Given the description of an element on the screen output the (x, y) to click on. 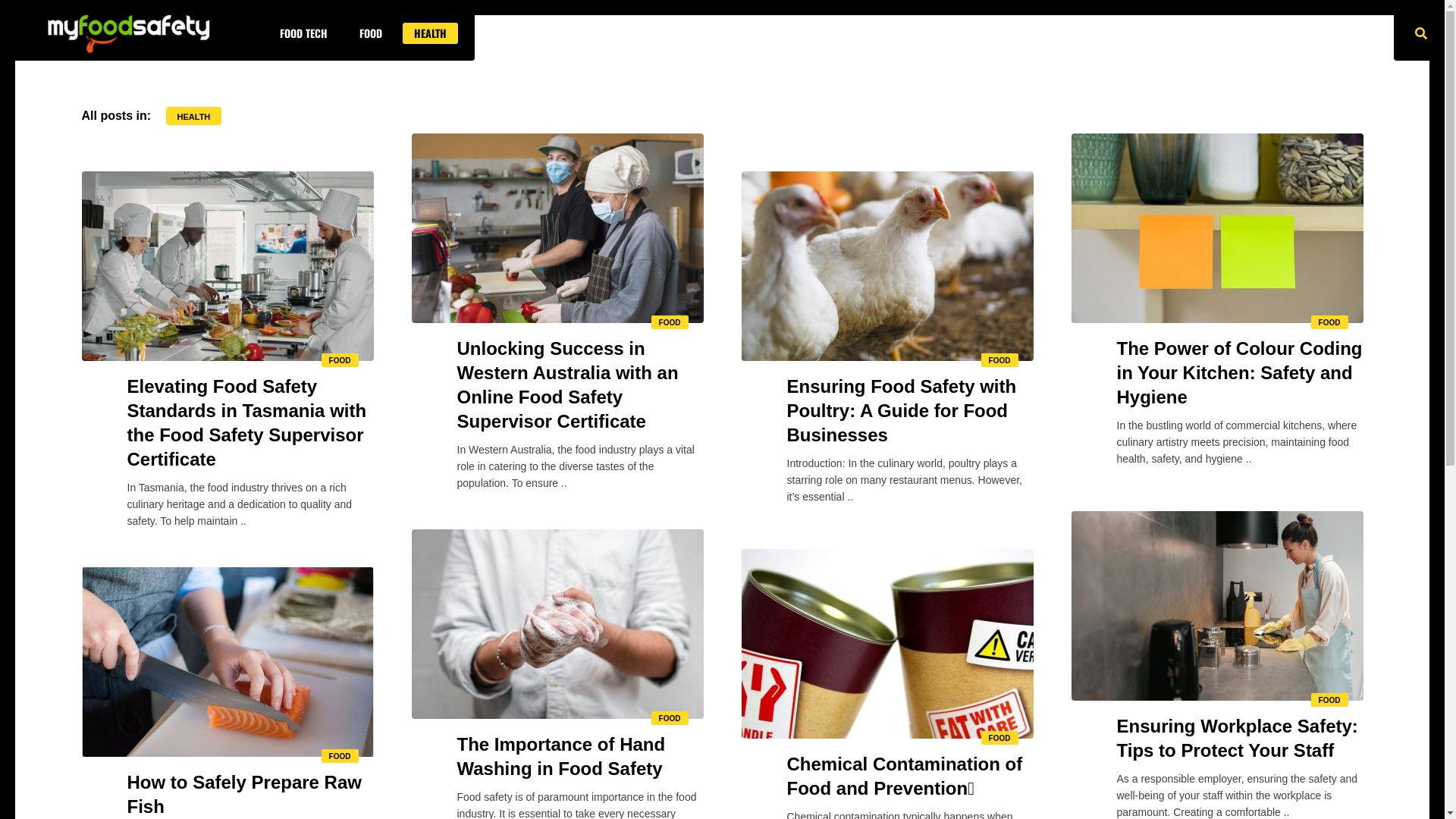
FOOD Element type: text (340, 756)
FOOD Element type: text (669, 322)
FOOD Element type: text (370, 32)
FOOD Element type: text (999, 738)
The Importance of Hand Washing in Food Safety Element type: text (579, 756)
FOOD Element type: text (1329, 322)
FOOD TECH Element type: text (303, 32)
FOOD Element type: text (340, 360)
FOOD Element type: text (1329, 700)
Ensuring Workplace Safety: Tips to Protect Your Staff Element type: text (1239, 738)
FOOD Element type: text (669, 718)
FOOD Element type: text (999, 360)
HEALTH Element type: text (430, 32)
